Given the description of an element on the screen output the (x, y) to click on. 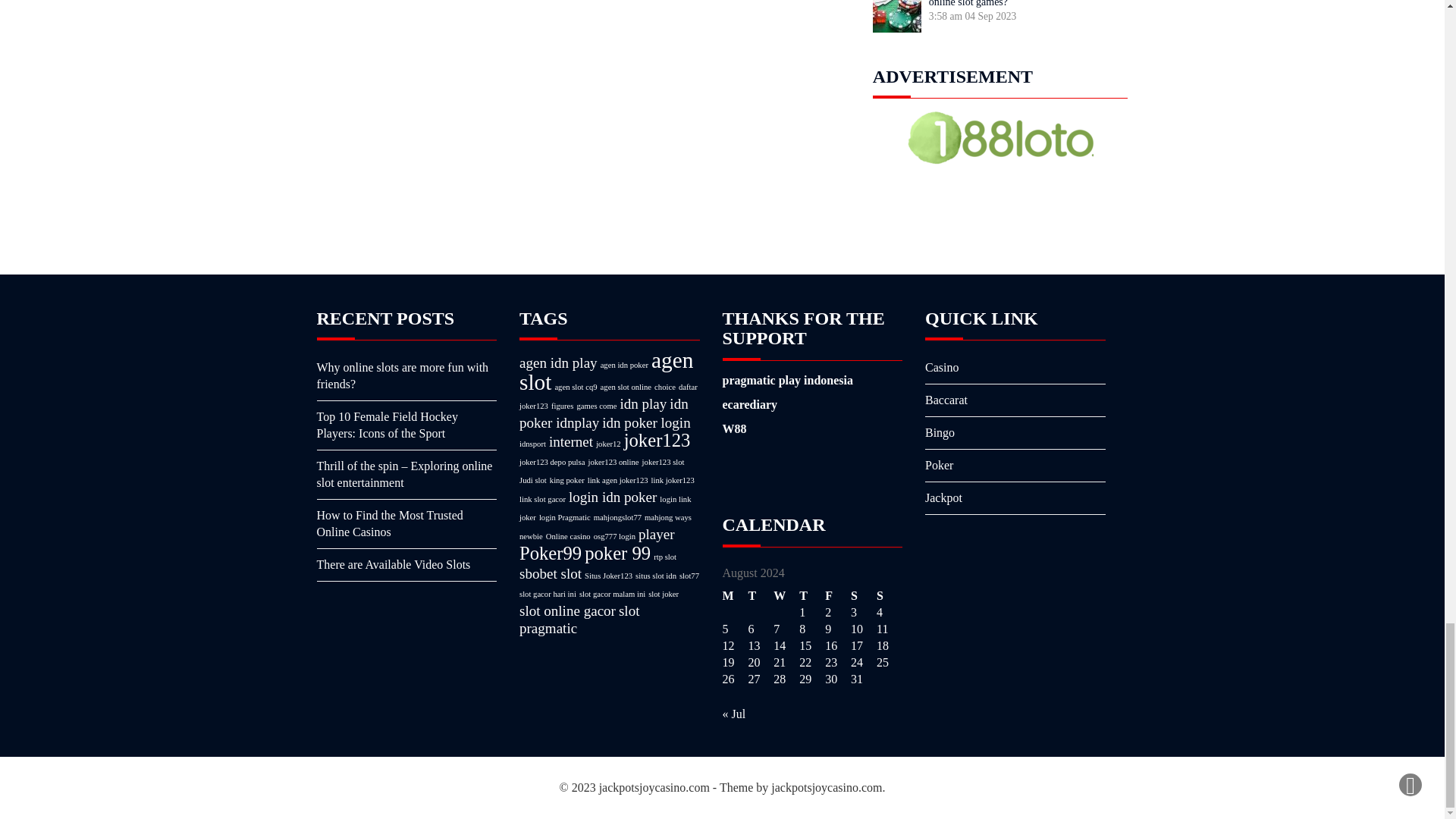
Wednesday (786, 596)
Monday (735, 596)
Tuesday (760, 596)
Thursday (812, 596)
Friday (837, 596)
Saturday (863, 596)
Sunday (889, 596)
